Given the description of an element on the screen output the (x, y) to click on. 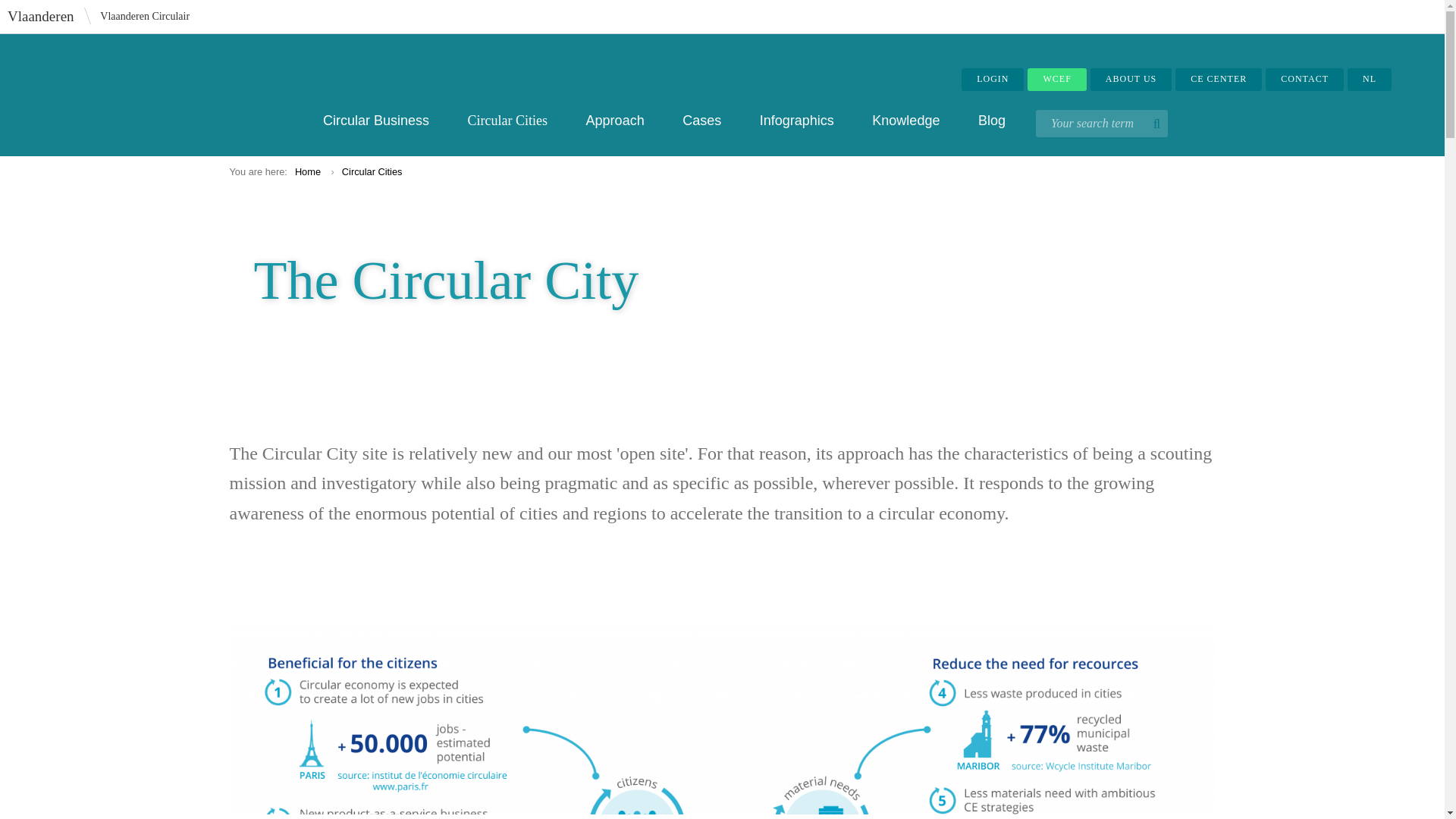
Home (307, 171)
Cases (701, 120)
Blog (992, 120)
WCEF (1056, 78)
Blog (992, 120)
Knowledge (905, 120)
CE Center (1218, 78)
Circular Cities (507, 120)
CONTACT (1304, 78)
Contact (1304, 78)
